Given the description of an element on the screen output the (x, y) to click on. 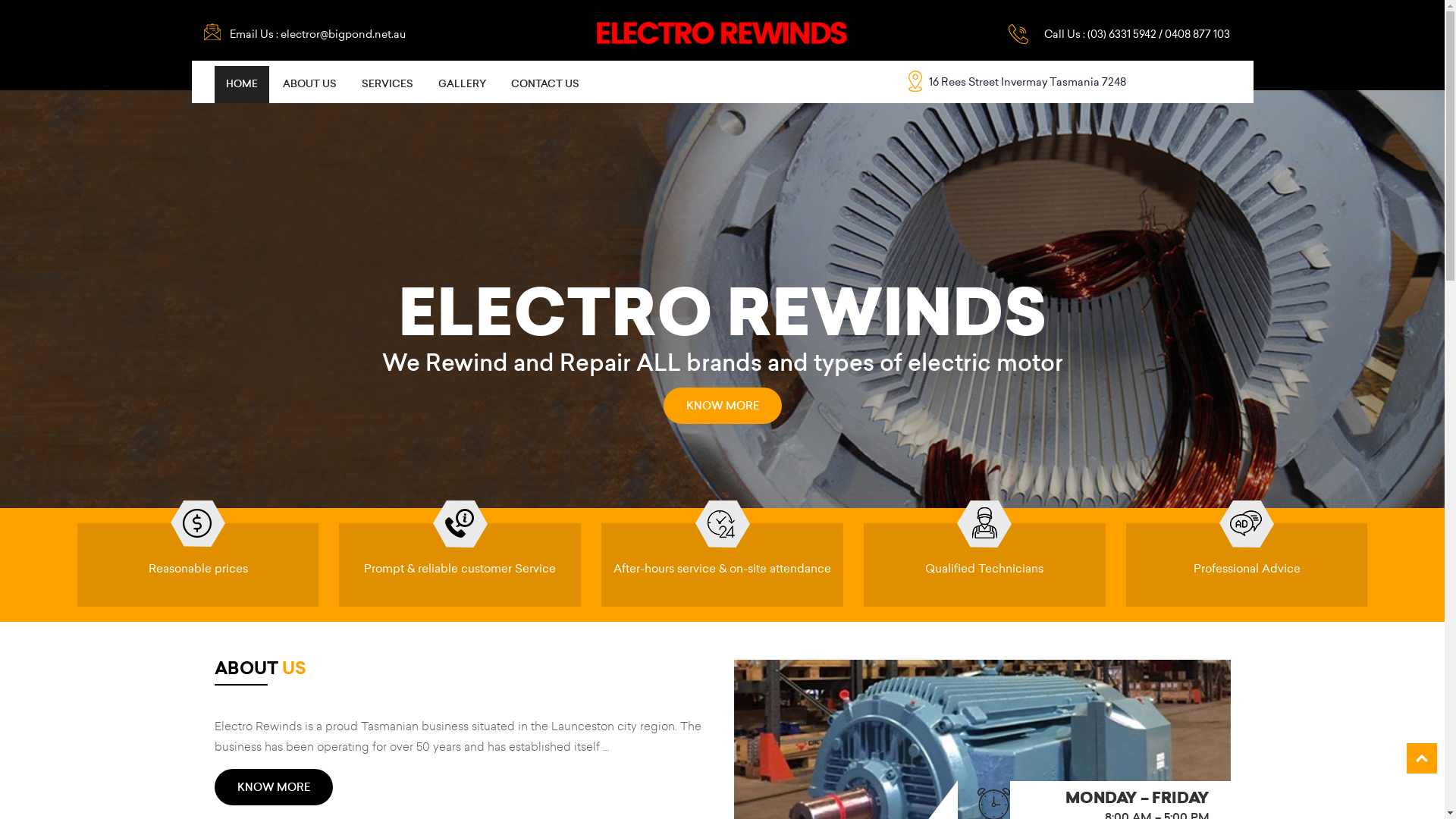
HOME Element type: text (240, 84)
SERVICES Element type: text (387, 84)
electror@bigpond.net.au Element type: text (342, 33)
KNOW MORE Element type: text (272, 786)
GALLERY Element type: text (461, 84)
ABOUT US Element type: text (309, 84)
CONTACT US Element type: text (543, 84)
(03) 6331 5942 / 0408 877 103 Element type: text (1158, 33)
Top Element type: text (1421, 758)
KNOW MORE Element type: text (721, 410)
